Given the description of an element on the screen output the (x, y) to click on. 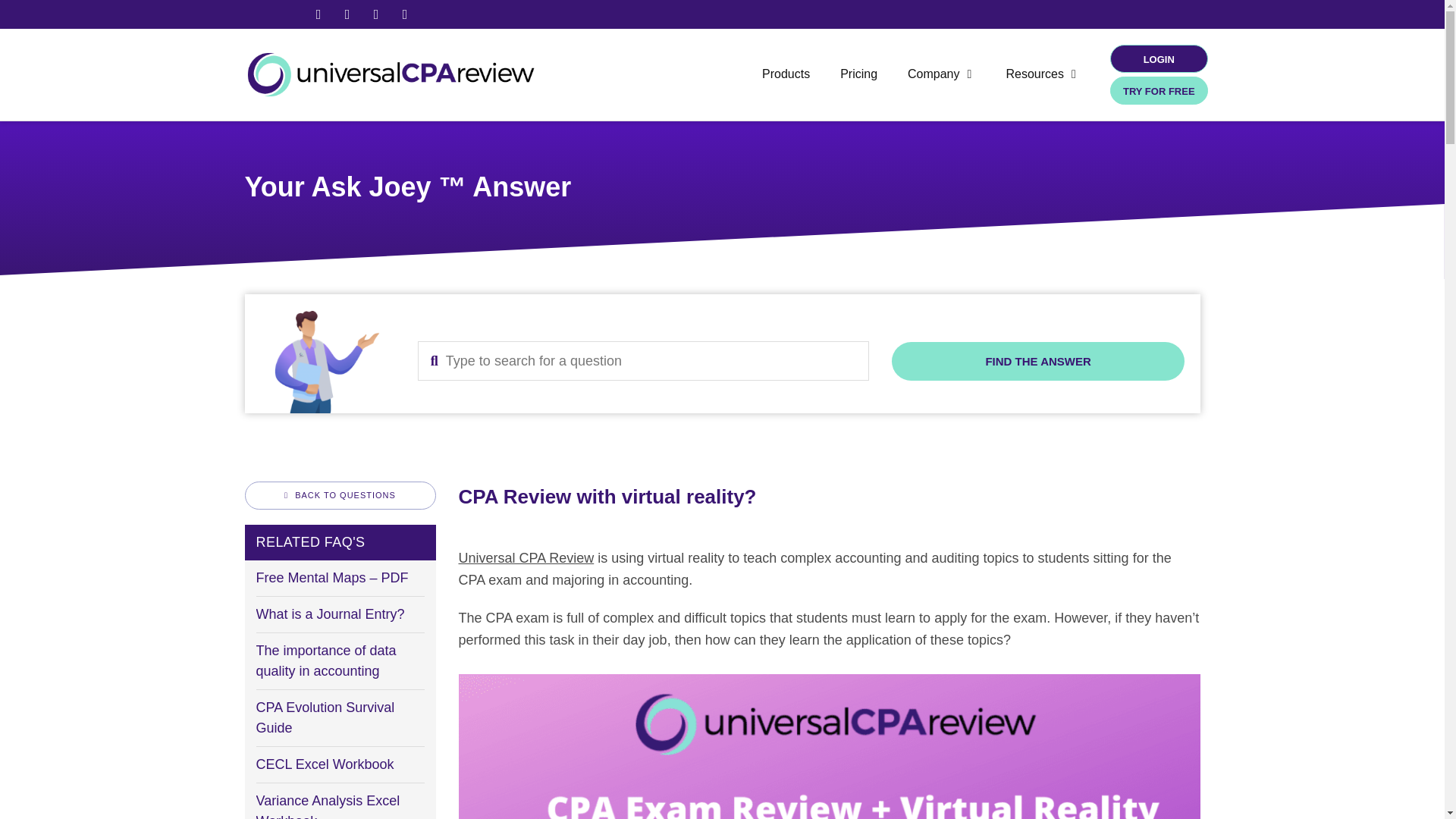
Products (785, 74)
Pricing (858, 74)
